Given the description of an element on the screen output the (x, y) to click on. 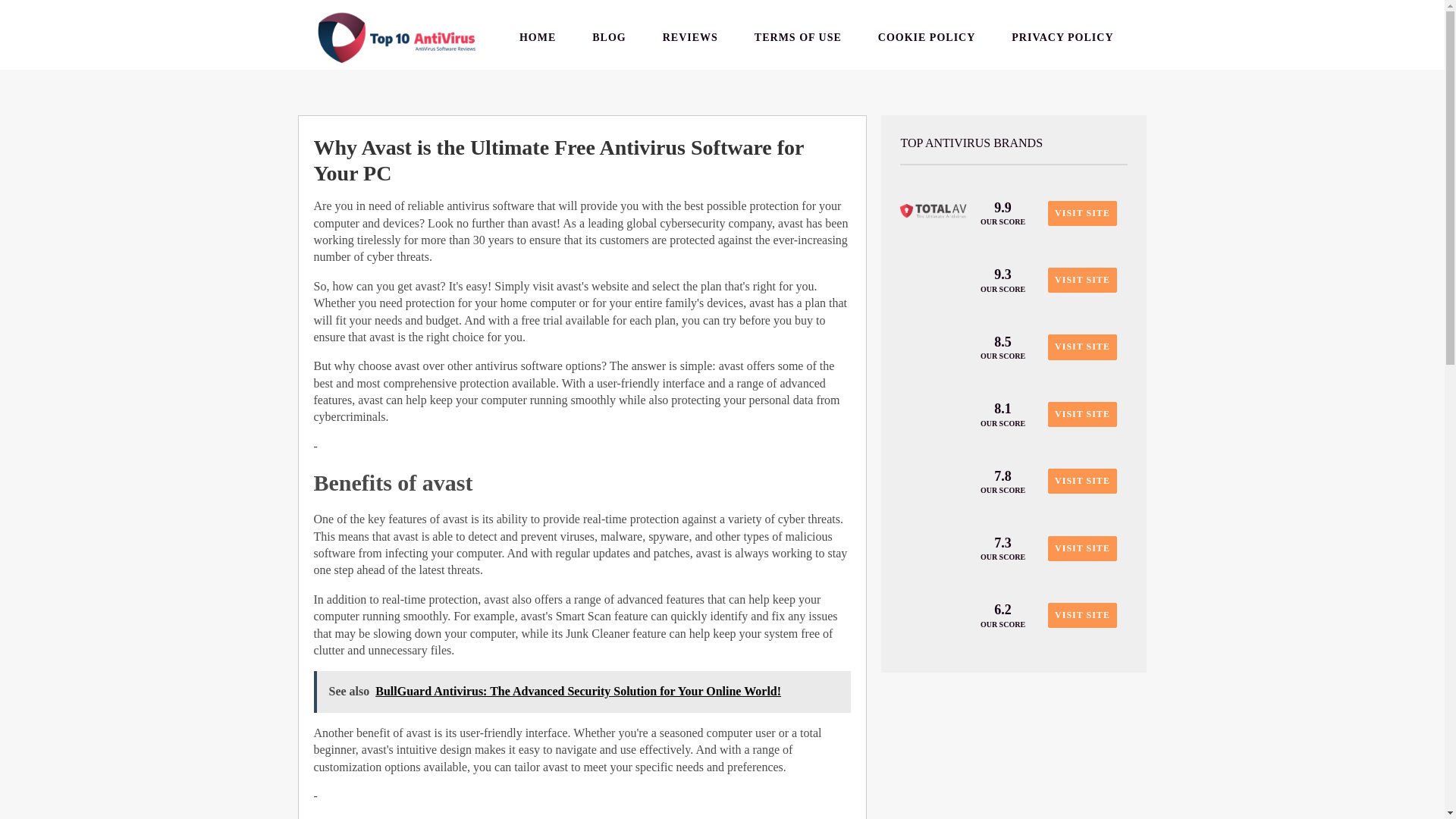
VISIT SITE (1082, 213)
REVIEWS (690, 37)
COOKIE POLICY (927, 37)
VISIT SITE (1082, 414)
BLOG (608, 37)
TERMS OF USE (798, 37)
VISIT SITE (1082, 548)
VISIT SITE (1082, 615)
HOME (536, 37)
VISIT SITE (1082, 480)
